Given the description of an element on the screen output the (x, y) to click on. 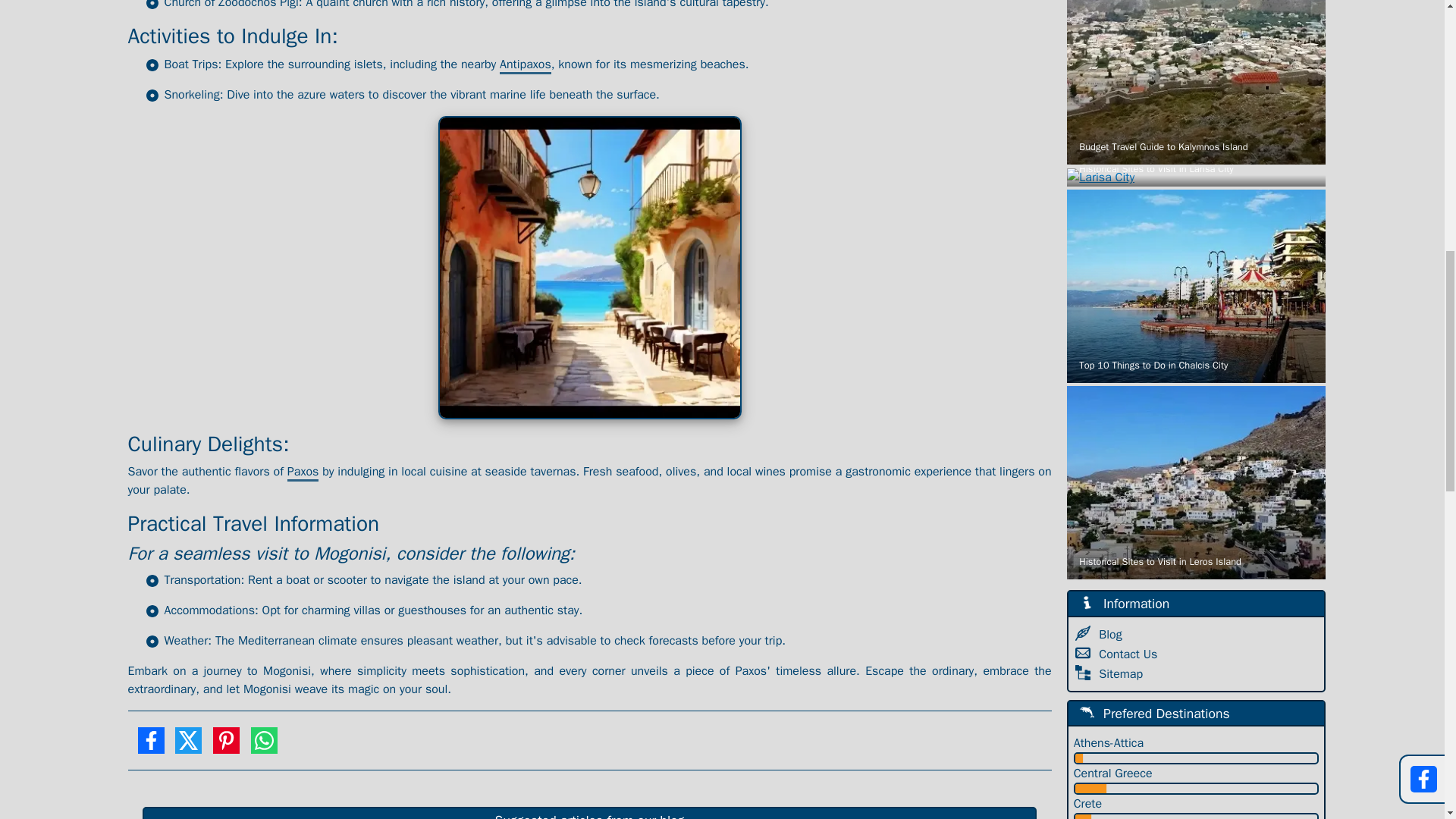
Paxos (302, 472)
Twitter (188, 745)
Facebook (150, 745)
Budget Travel Guide to Kalymnos Island (1195, 82)
Antipaxos (525, 65)
Pinterest (226, 745)
Top 10 Things to Do in Chalcis City (1195, 286)
Historical Sites to Visit in Leros Island (1195, 482)
Historical Sites to Visit in Larisa City (1195, 176)
WhatsApp (264, 745)
